Given the description of an element on the screen output the (x, y) to click on. 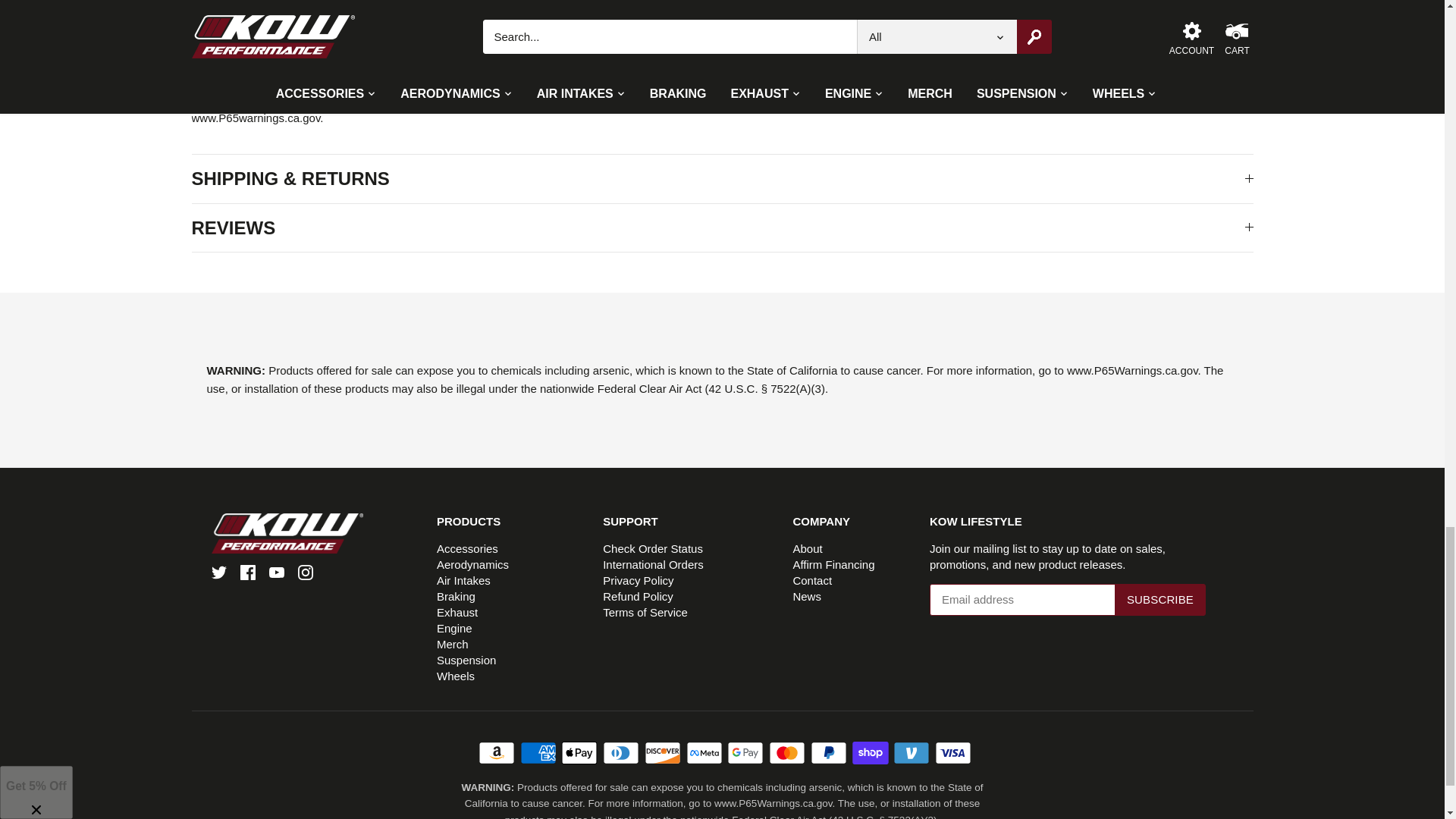
Youtube (275, 572)
Twitter (218, 572)
Instagram (305, 572)
Facebook (247, 572)
Subscribe (1160, 599)
